Given the description of an element on the screen output the (x, y) to click on. 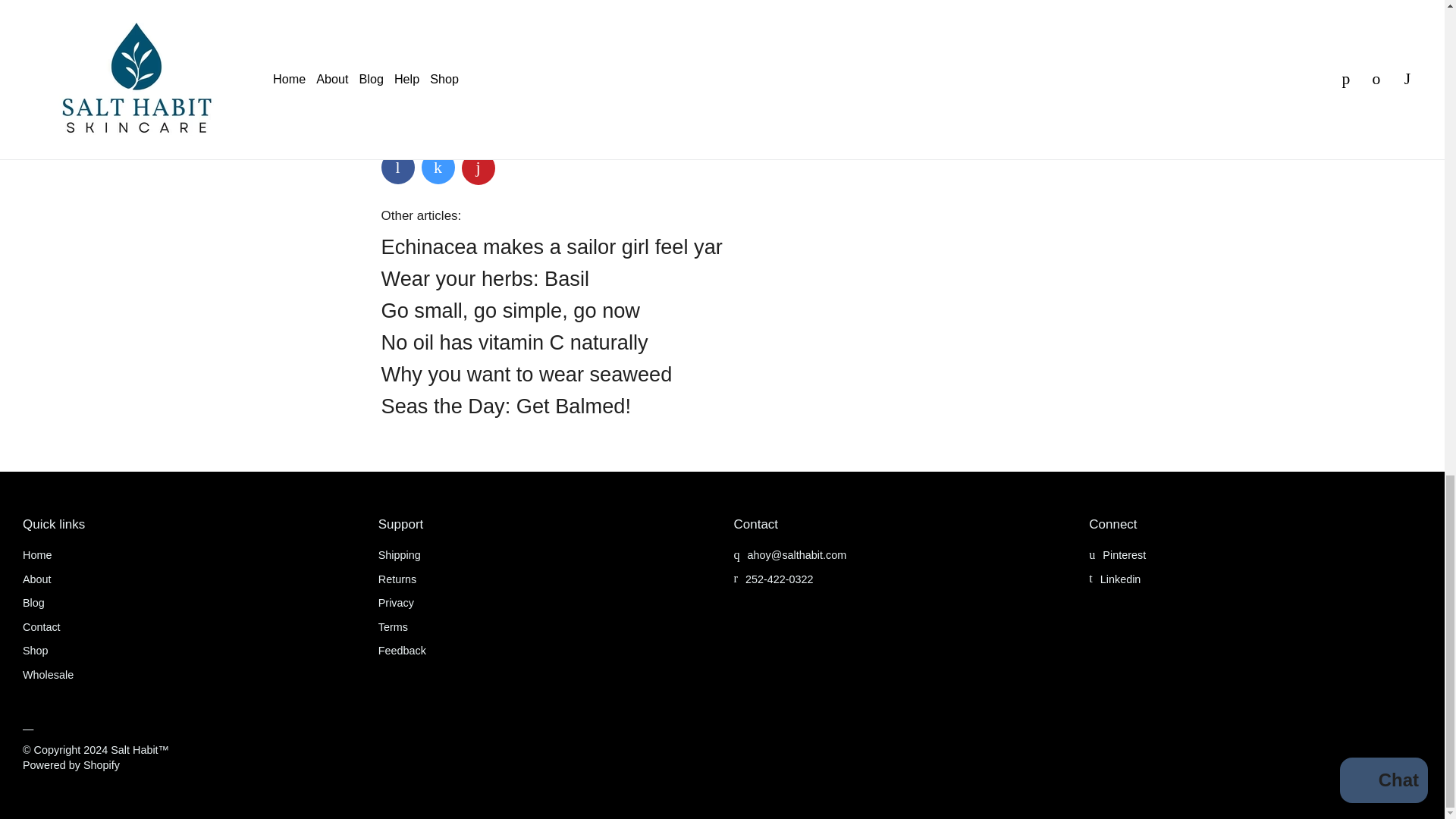
Share on Facebook (396, 167)
Go small, go simple, go now (510, 310)
No oil has vitamin C naturally (513, 341)
Echinacea makes a sailor girl feel yar (551, 246)
About (36, 579)
ingredients (436, 118)
Wear your herbs: Basil (484, 278)
Share on Twitter (438, 167)
Seas the Day: Get Balmed! (505, 405)
Home (36, 554)
